Given the description of an element on the screen output the (x, y) to click on. 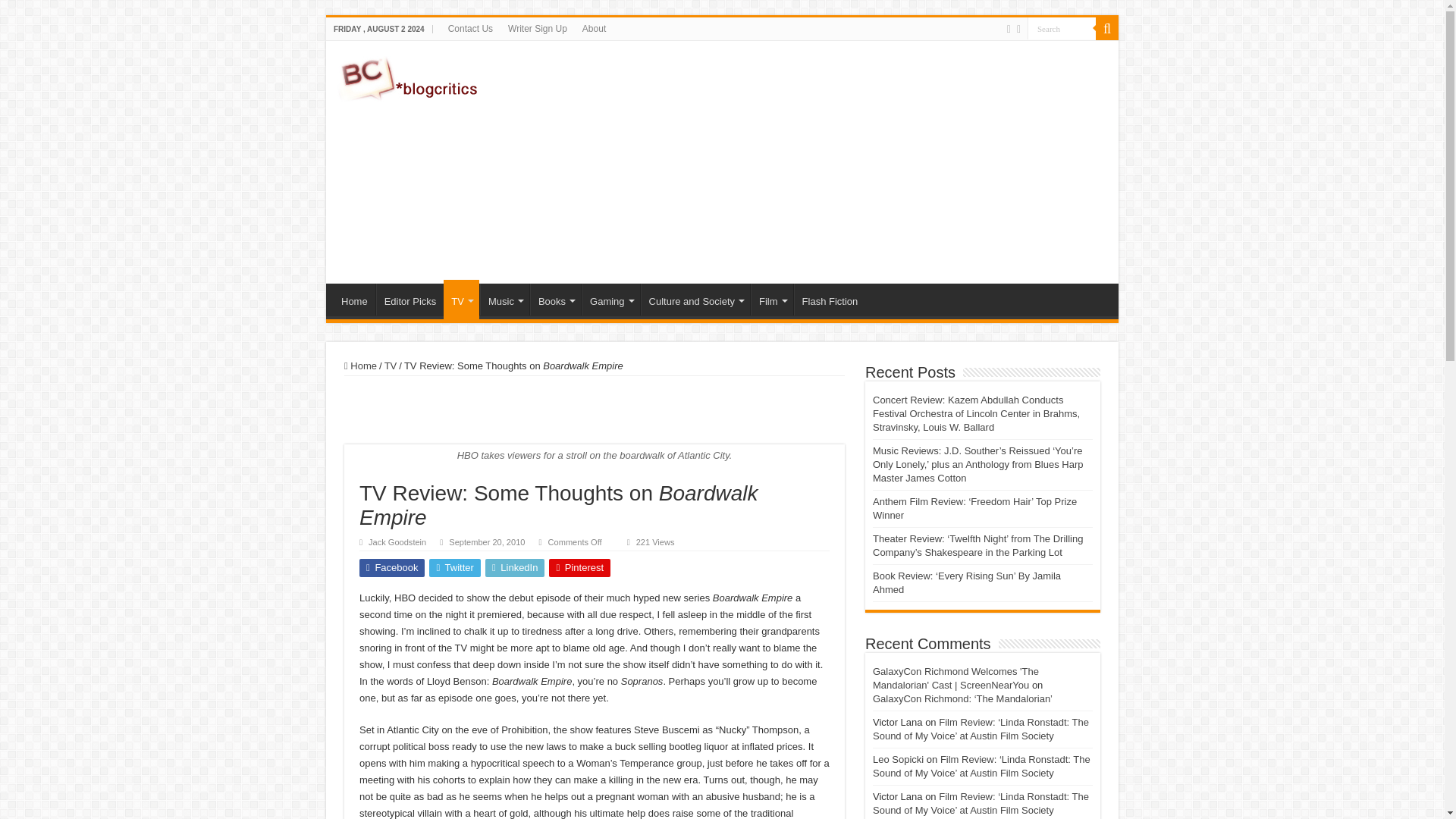
Search (1061, 28)
Advertisement (830, 162)
Search (1061, 28)
Blogcritics (409, 75)
Search (1061, 28)
